Given the description of an element on the screen output the (x, y) to click on. 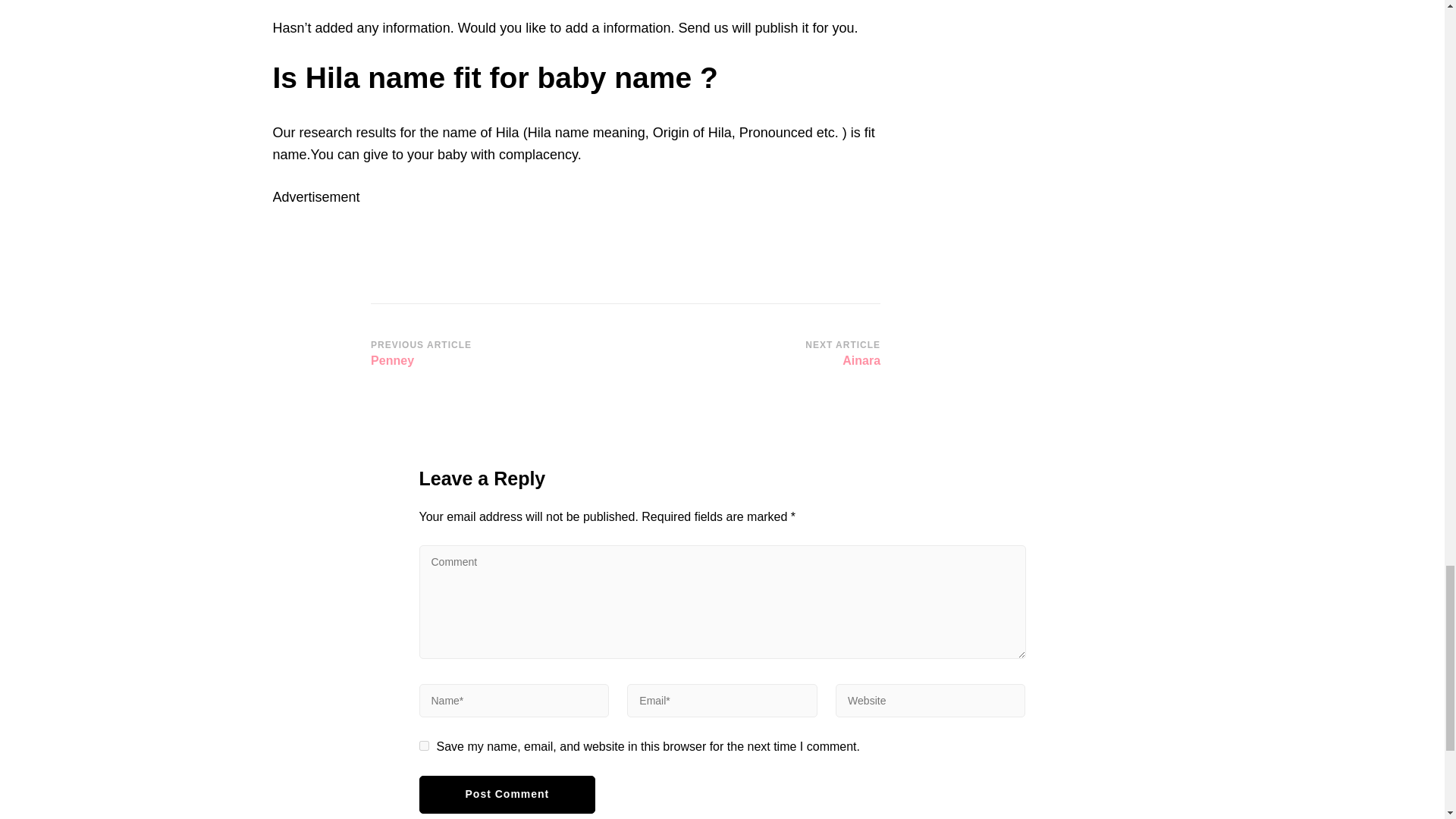
Post Comment (493, 354)
yes (758, 354)
